Given the description of an element on the screen output the (x, y) to click on. 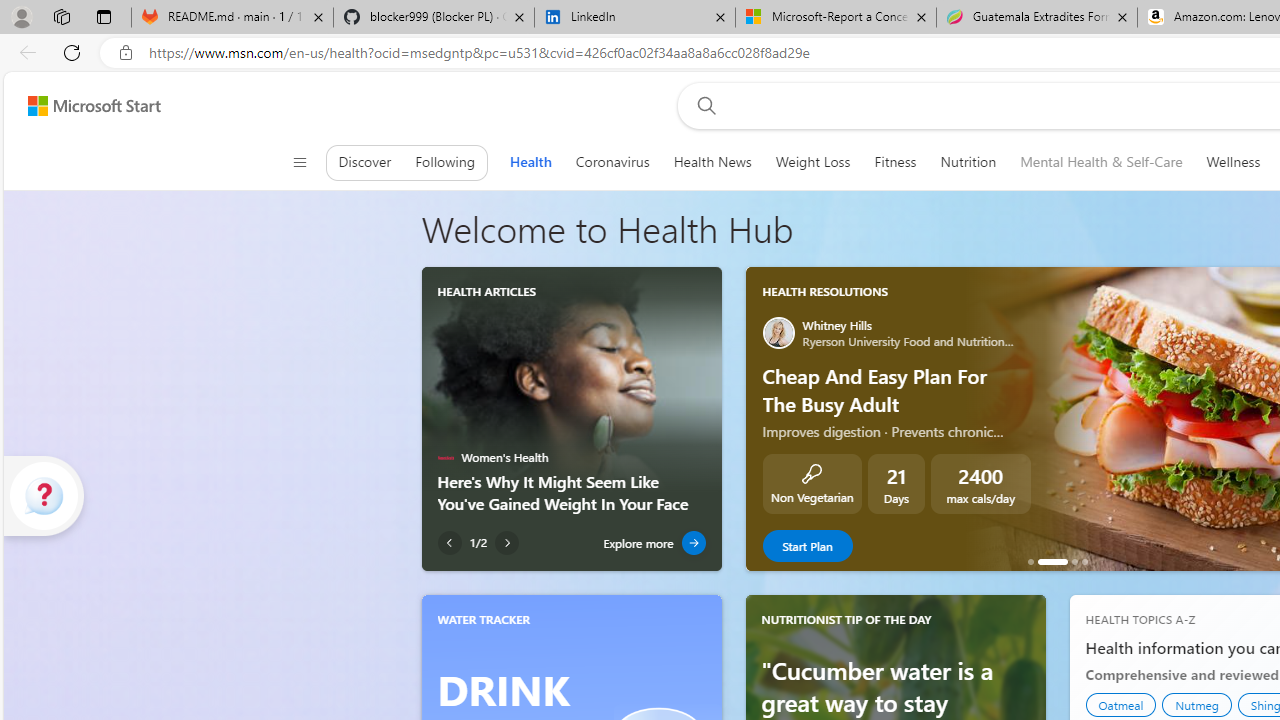
Coronavirus (612, 161)
Next Article (507, 543)
Explore more (654, 543)
Health News (712, 162)
Weight Loss (812, 162)
Women's Health (445, 457)
Nutmeg (1196, 704)
7 Days Cardioprotective Vegan Diet Plan (1030, 561)
Mental Health & Self-Care (1101, 162)
Nutrition (968, 162)
